Given the description of an element on the screen output the (x, y) to click on. 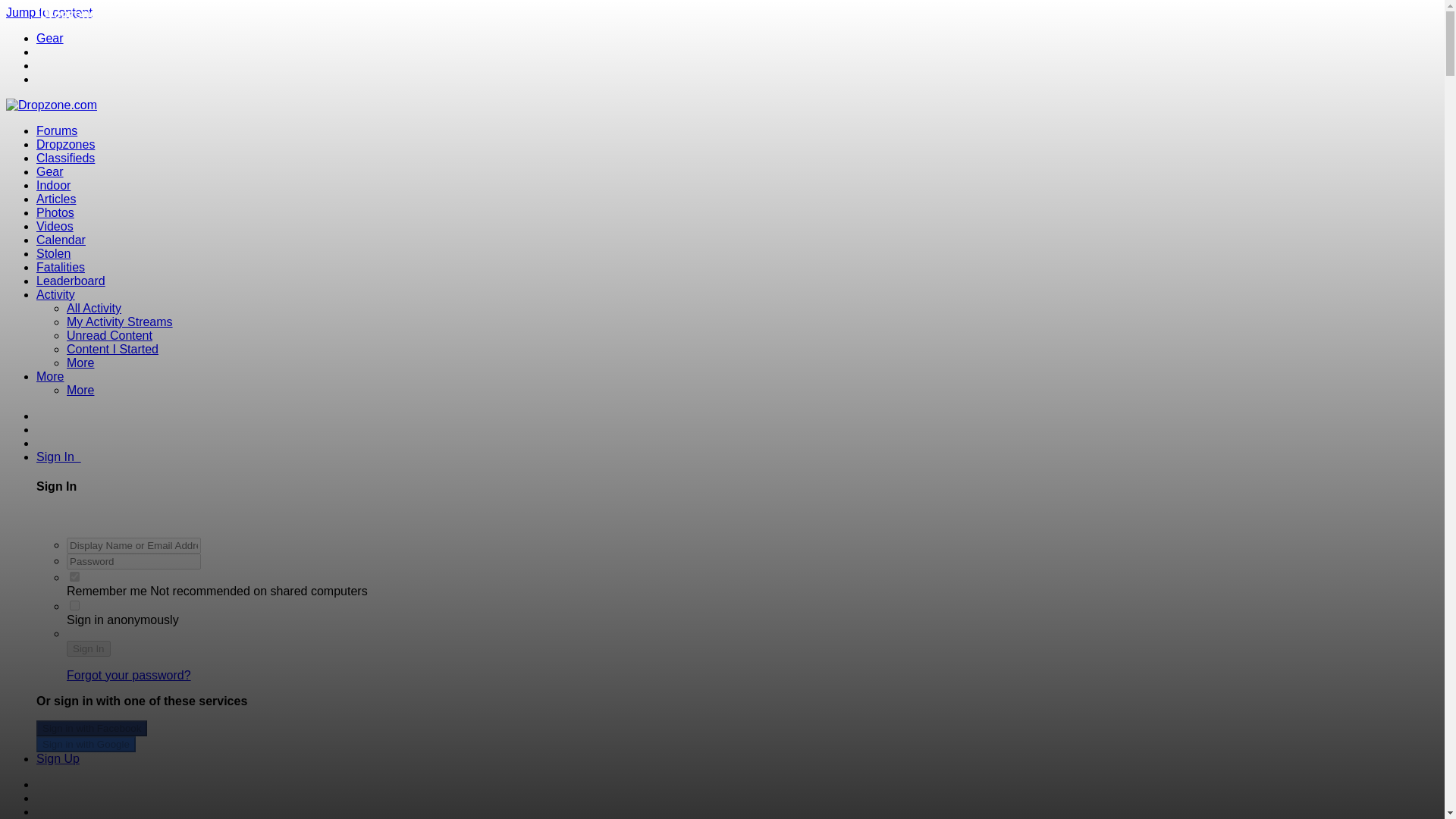
Gear (50, 38)
Videos (55, 226)
Calendar (60, 239)
Classifieds (65, 157)
Sign in with Google (85, 744)
Fatalities (60, 267)
Photos (55, 212)
Content I Started (112, 349)
My Activity Streams (119, 321)
1 (74, 576)
Unread Content (109, 335)
Stolen (52, 253)
Go to main content on this page (49, 11)
Jump to content (49, 11)
Leaderboard (70, 280)
